Given the description of an element on the screen output the (x, y) to click on. 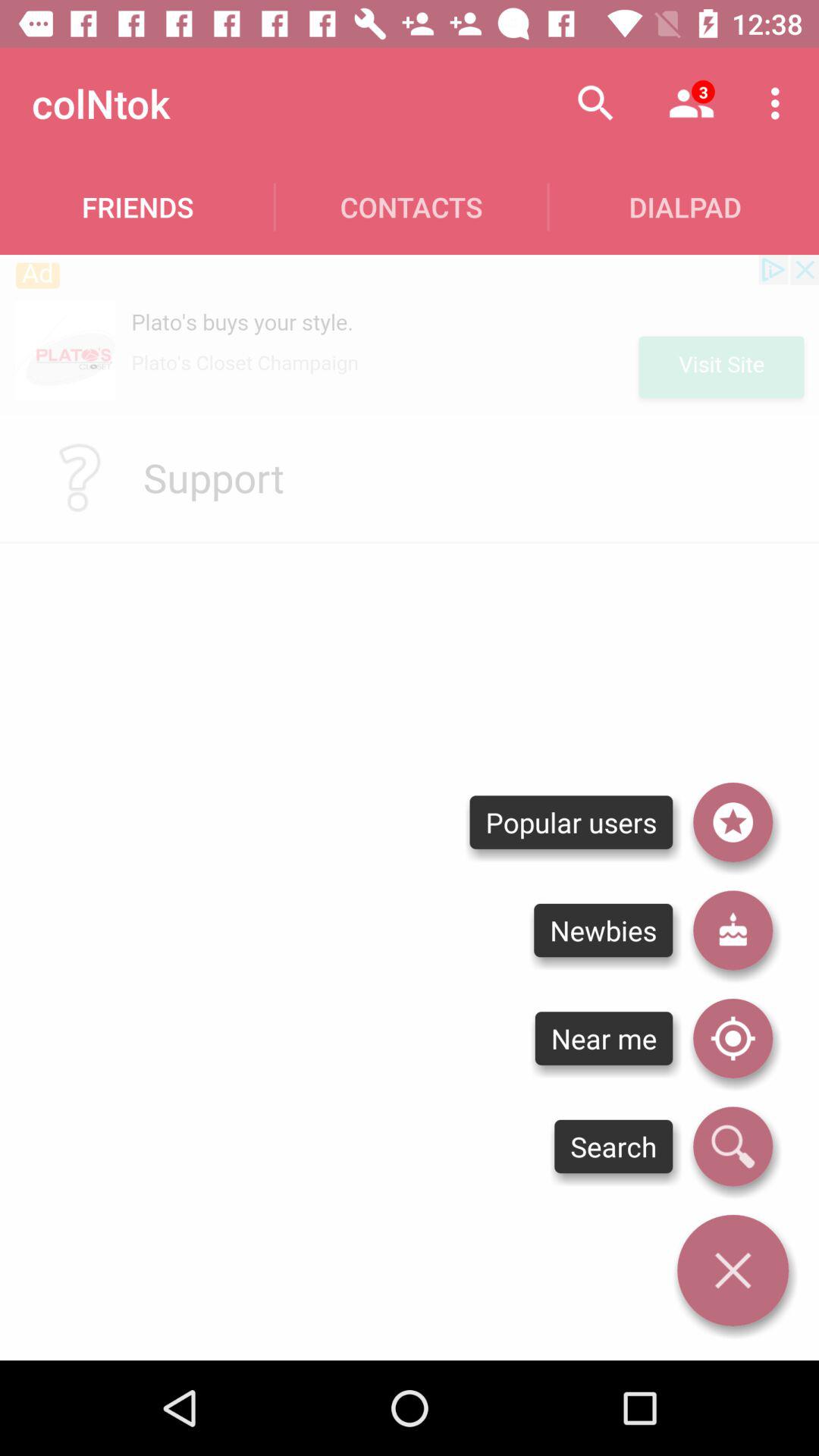
jump to the support (213, 477)
